Given the description of an element on the screen output the (x, y) to click on. 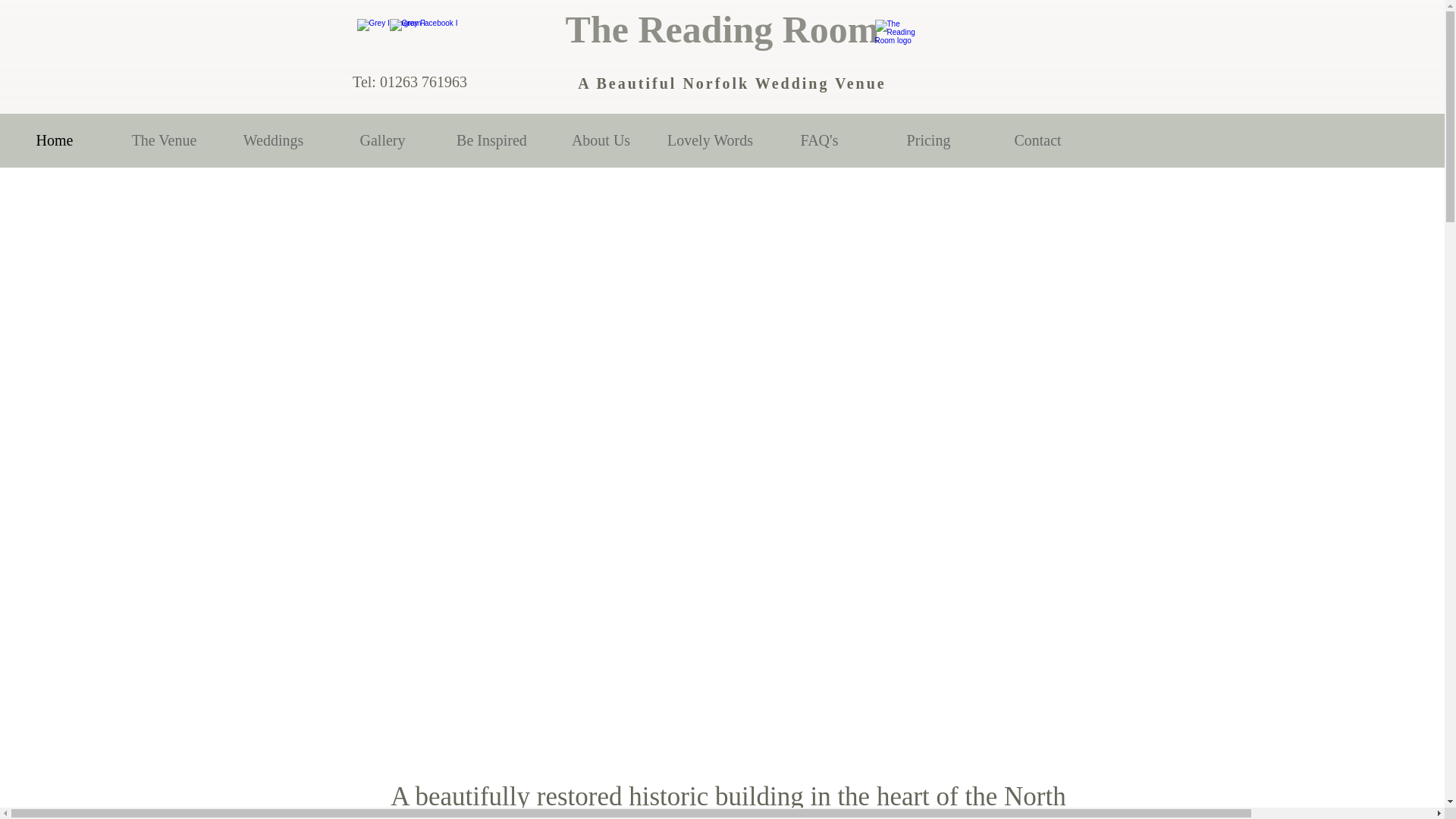
Home (54, 140)
About Us (600, 140)
Be Inspired (491, 140)
Tel: 01263 761963 (409, 81)
Pricing (927, 140)
Rings png.png (897, 36)
Weddings (272, 140)
FAQ's (818, 140)
Contact (1037, 140)
Gallery (381, 140)
Lovely Words (709, 140)
The Venue (163, 140)
